Given the description of an element on the screen output the (x, y) to click on. 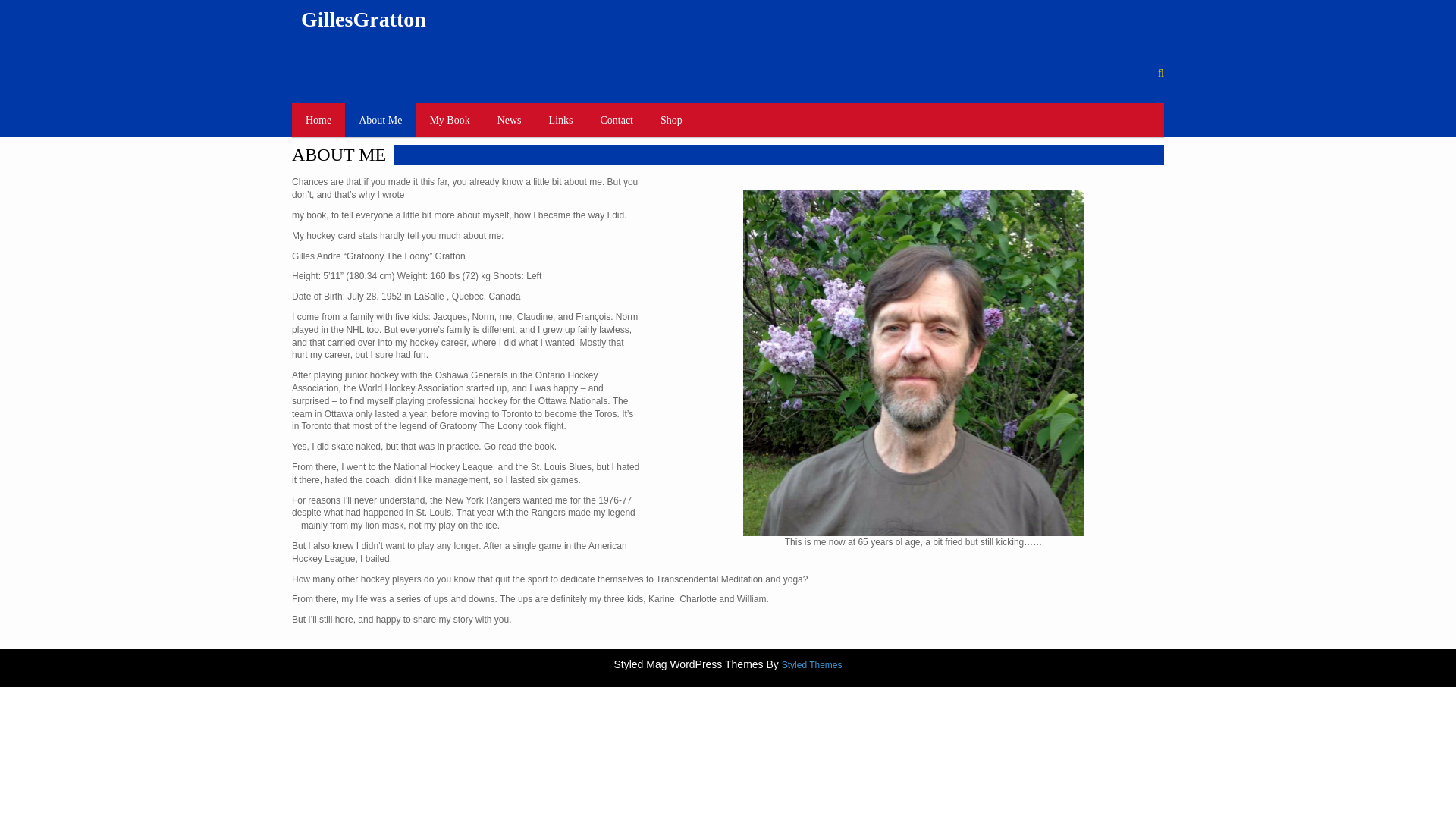
GillesGratton (363, 19)
Styled Themes (812, 665)
Links (560, 120)
Contact (616, 120)
My Book (448, 120)
GillesGratton (363, 19)
About Me (379, 120)
News (509, 120)
Shop (670, 120)
Home (318, 120)
